Given the description of an element on the screen output the (x, y) to click on. 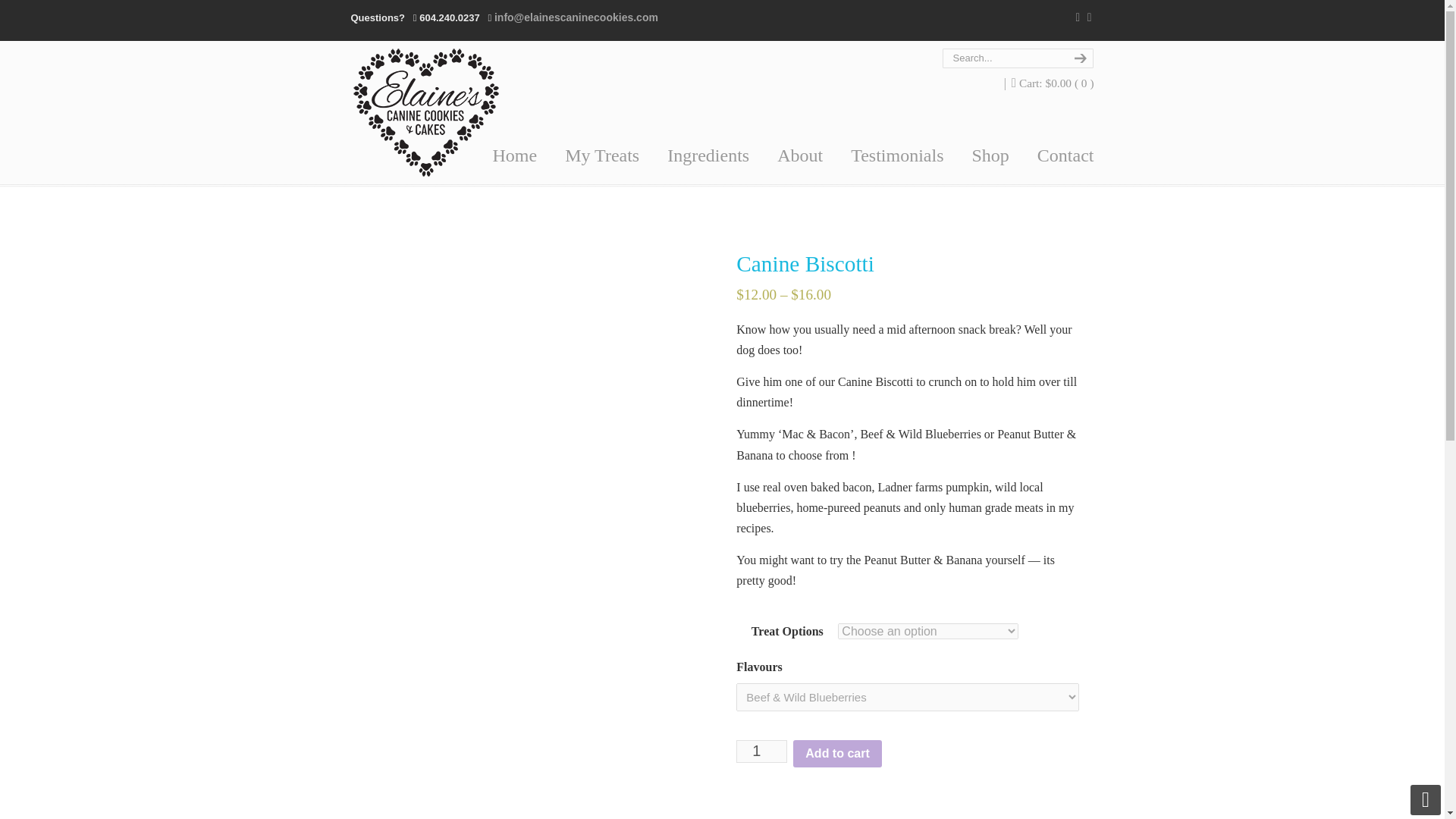
search (1077, 57)
Contact (1065, 155)
Add to cart (836, 753)
Search... (1002, 57)
Testimonials (896, 155)
1 (761, 751)
Shop (989, 155)
About (799, 155)
Home (515, 155)
My Treats (601, 155)
Ingredients (708, 155)
search (1077, 57)
search (1077, 57)
View your shopping cart (1056, 82)
